Given the description of an element on the screen output the (x, y) to click on. 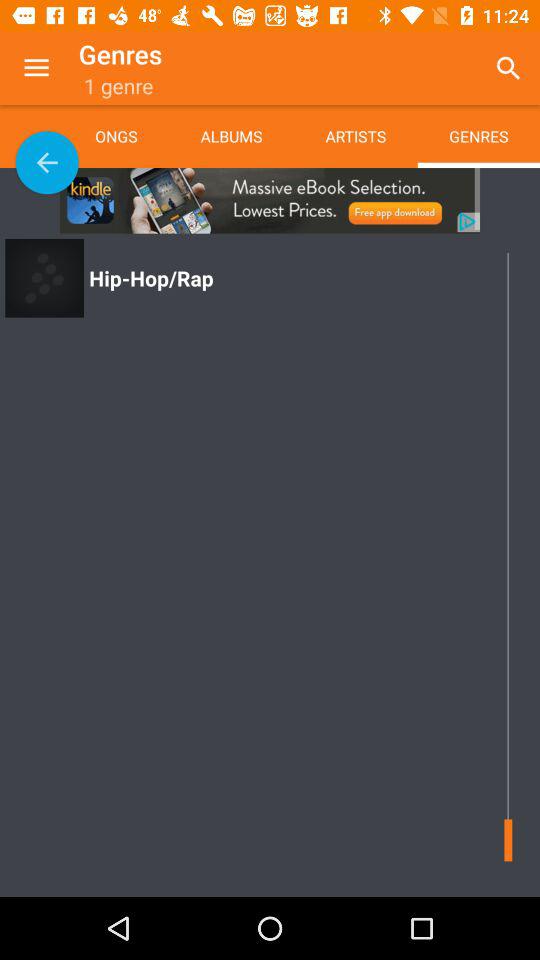
turn on songs item (131, 136)
